Given the description of an element on the screen output the (x, y) to click on. 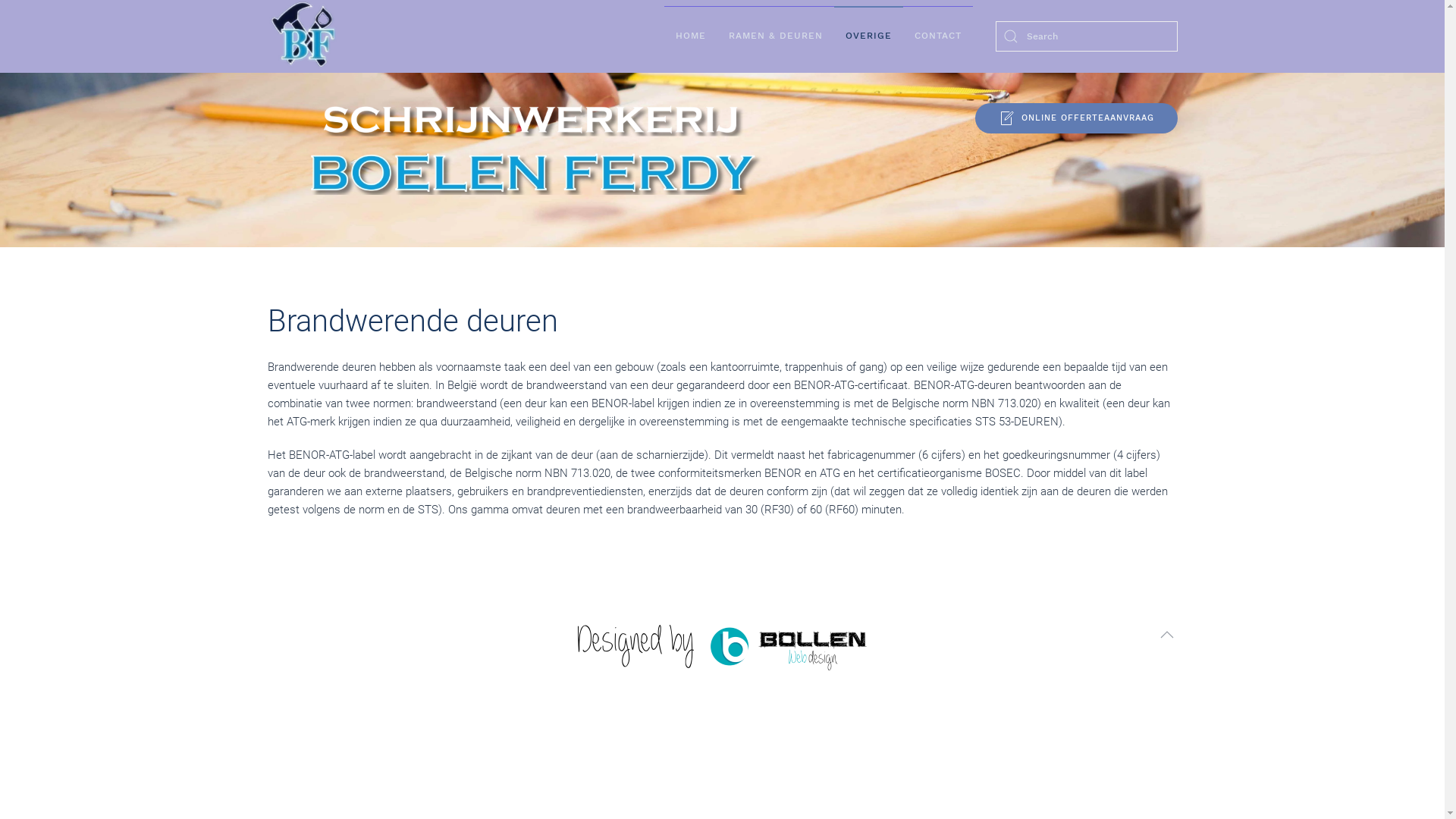
RAMEN & DEUREN Element type: text (775, 36)
Bollen Webdesign Element type: hover (721, 647)
CONTACT Element type: text (937, 36)
Terug naar boven Element type: hover (1165, 634)
ONLINE OFFERTEAANVRAAG Element type: text (1076, 118)
OVERIGE Element type: text (868, 36)
HOME Element type: text (690, 36)
